Given the description of an element on the screen output the (x, y) to click on. 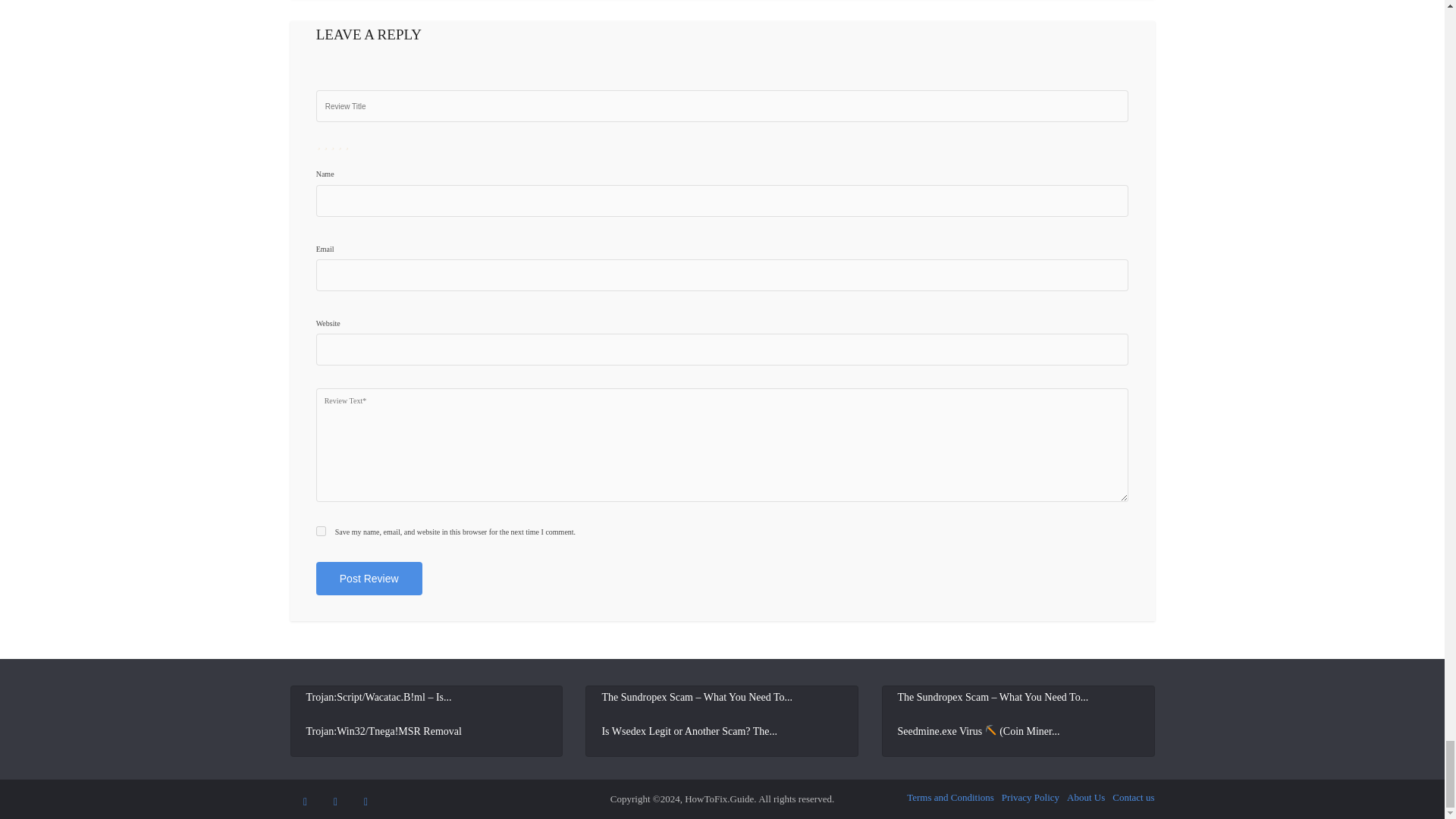
yes (320, 531)
Post Review (368, 578)
